Given the description of an element on the screen output the (x, y) to click on. 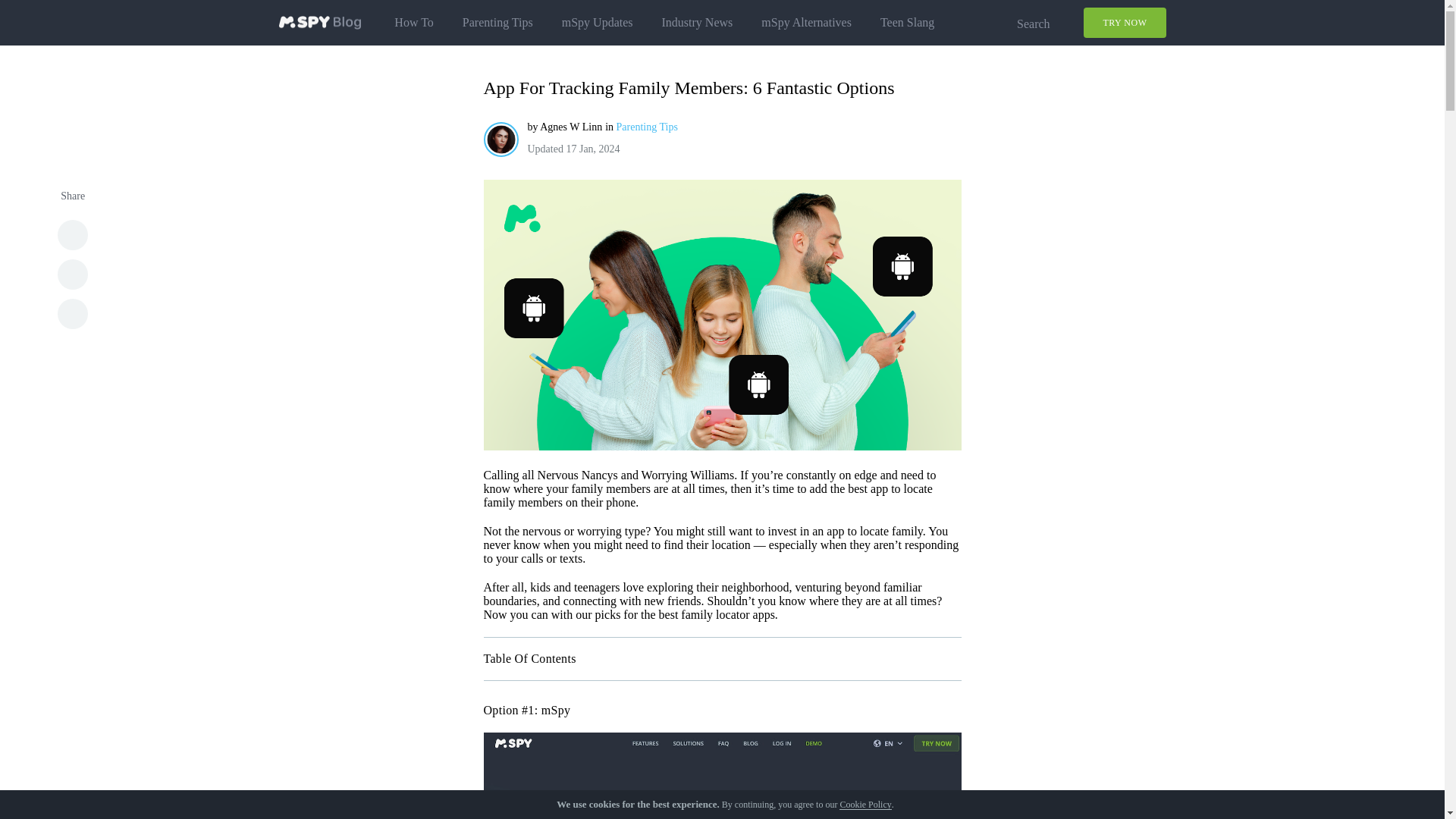
mSpy Updates (597, 22)
share (72, 313)
Parenting Tips (646, 126)
Parenting Tips (497, 22)
TRY NOW (1124, 22)
Teen Slang (907, 22)
mSpy Alternatives (806, 22)
Industry News (697, 22)
